Given the description of an element on the screen output the (x, y) to click on. 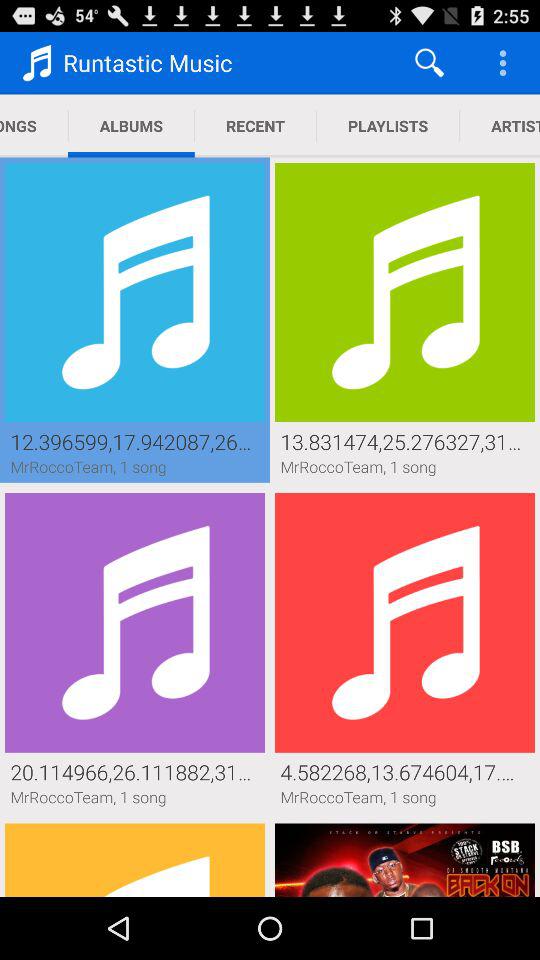
tap icon next to songs icon (131, 125)
